Given the description of an element on the screen output the (x, y) to click on. 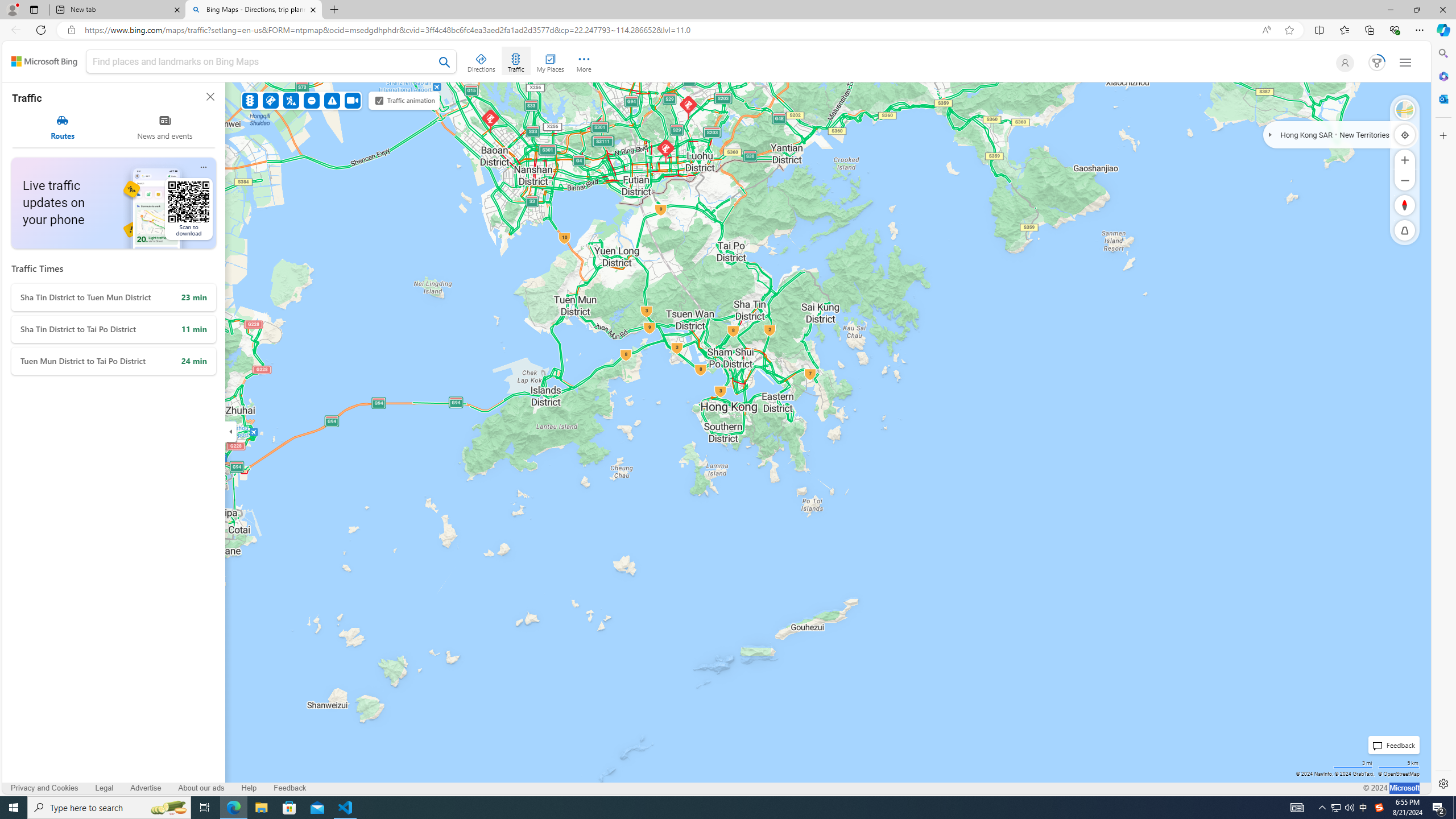
Microsoft Rewards  (1374, 62)
Expand/Collapse Geochain (1269, 134)
Road (1404, 109)
About our ads (200, 787)
Rotate Right (1393, 205)
Class: sbElement (43, 60)
Streetside (1404, 109)
Traffic (514, 60)
